Given the description of an element on the screen output the (x, y) to click on. 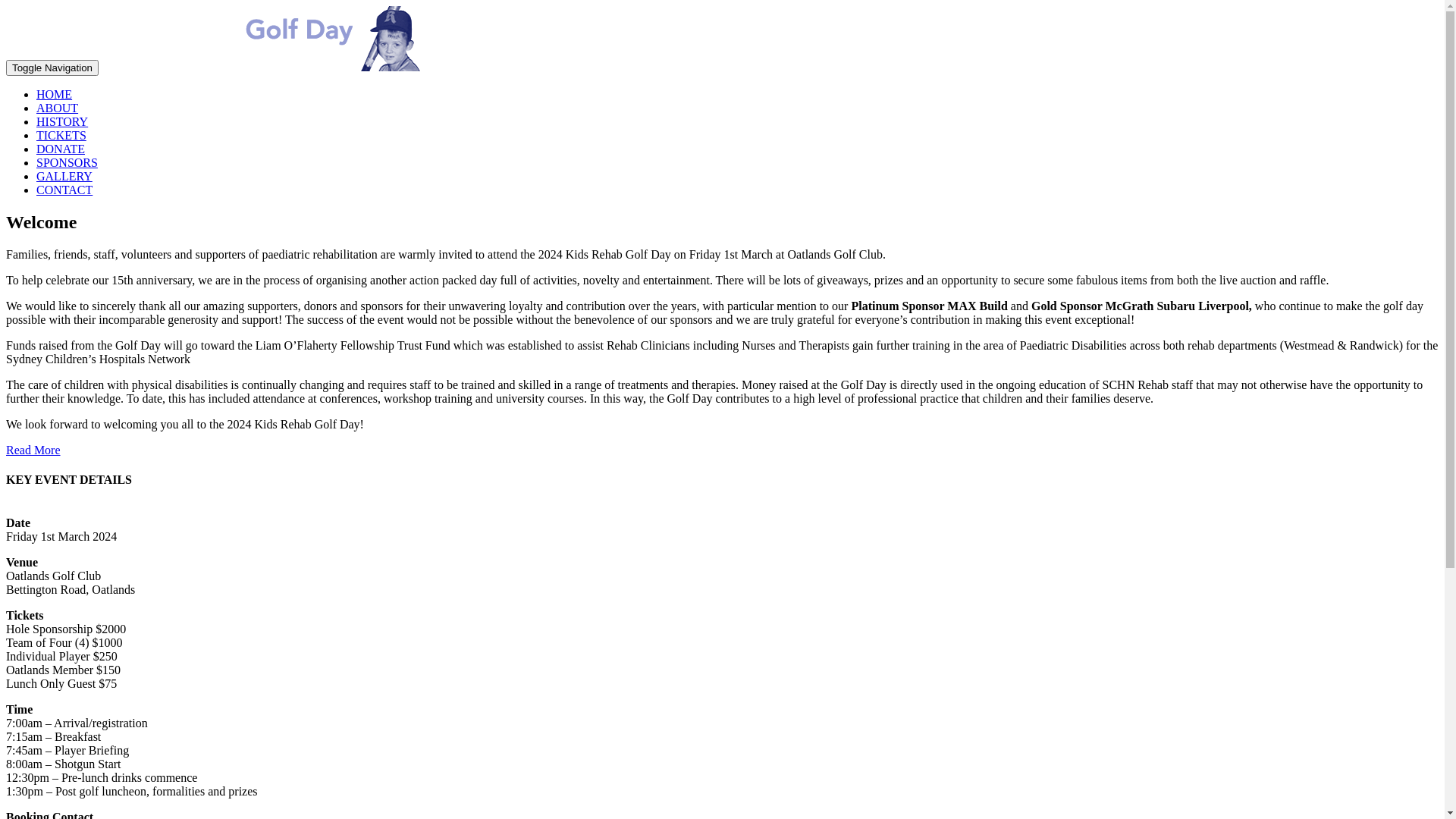
Toggle Navigation Element type: text (52, 67)
TICKETS Element type: text (61, 134)
Read More Element type: text (33, 449)
HOME Element type: text (54, 93)
HISTORY Element type: text (61, 121)
SPONSORS Element type: text (66, 162)
ABOUT Element type: text (57, 107)
DONATE Element type: text (60, 148)
GALLERY Element type: text (64, 175)
CONTACT Element type: text (64, 189)
